Given the description of an element on the screen output the (x, y) to click on. 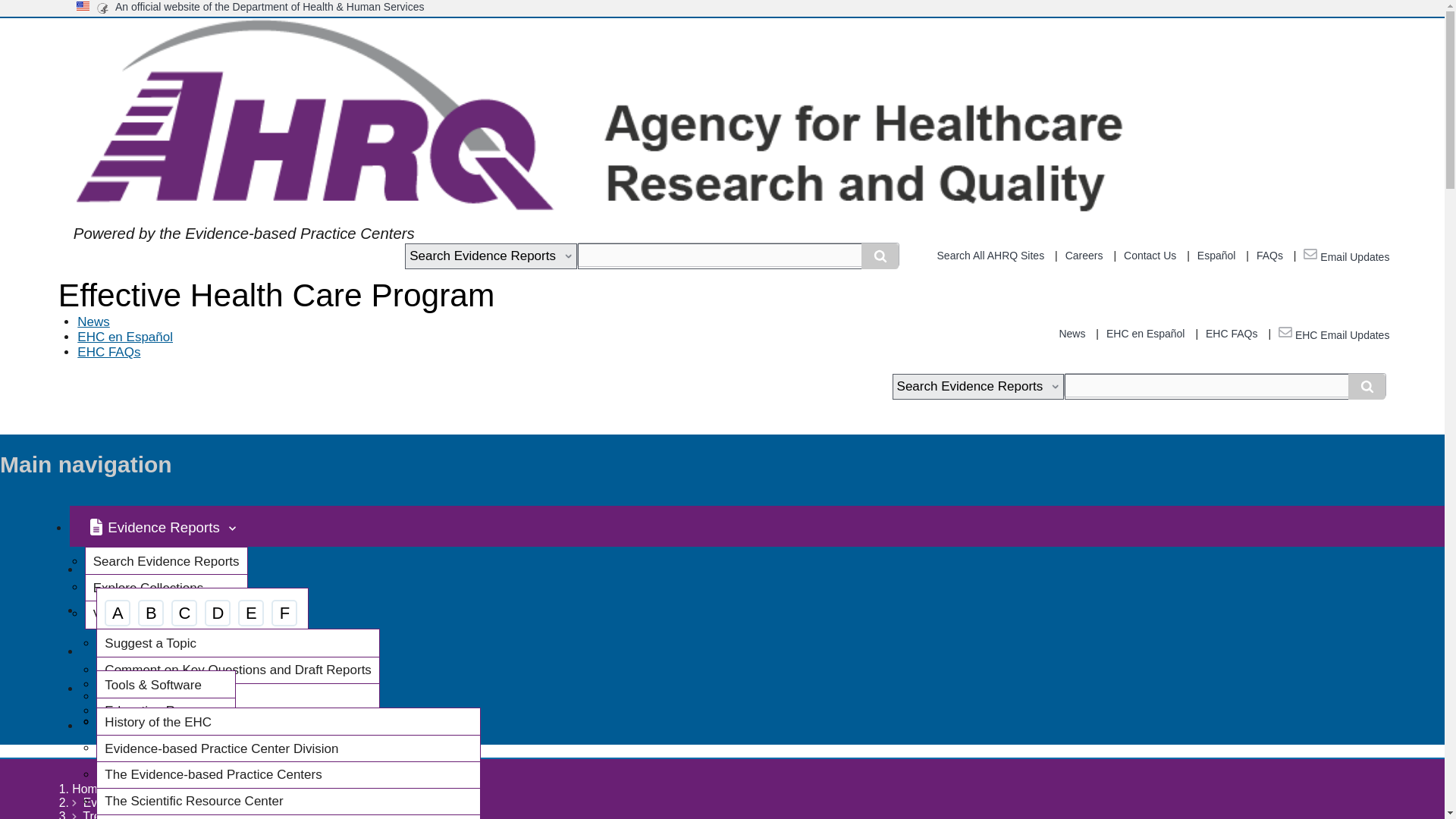
Email Updates (1346, 256)
EHC FAQs (1231, 333)
News (93, 321)
News (1071, 333)
Evidence Reports (162, 526)
Careers (1084, 255)
Search All AHRQ Sites (991, 255)
Contact Us (1150, 255)
Search Evidence Reports (490, 256)
FAQs (1269, 255)
View Nominated Topics (160, 614)
Search Evidence Reports (166, 560)
Health Topics (164, 567)
EHC Email Updates (1333, 335)
Search Evidence Reports (978, 386)
